Given the description of an element on the screen output the (x, y) to click on. 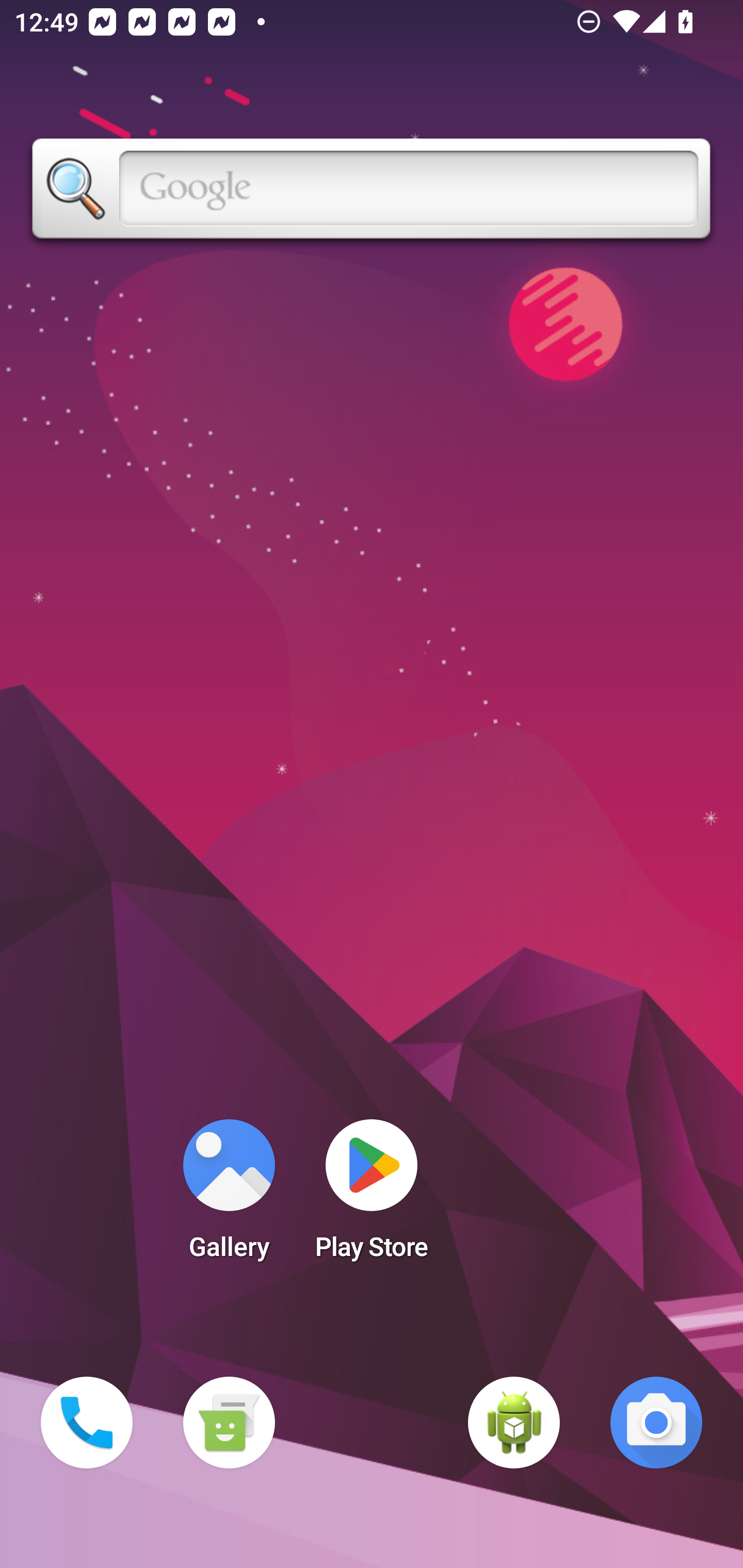
Gallery (228, 1195)
Play Store (371, 1195)
Phone (86, 1422)
Messaging (228, 1422)
WebView Browser Tester (513, 1422)
Camera (656, 1422)
